Given the description of an element on the screen output the (x, y) to click on. 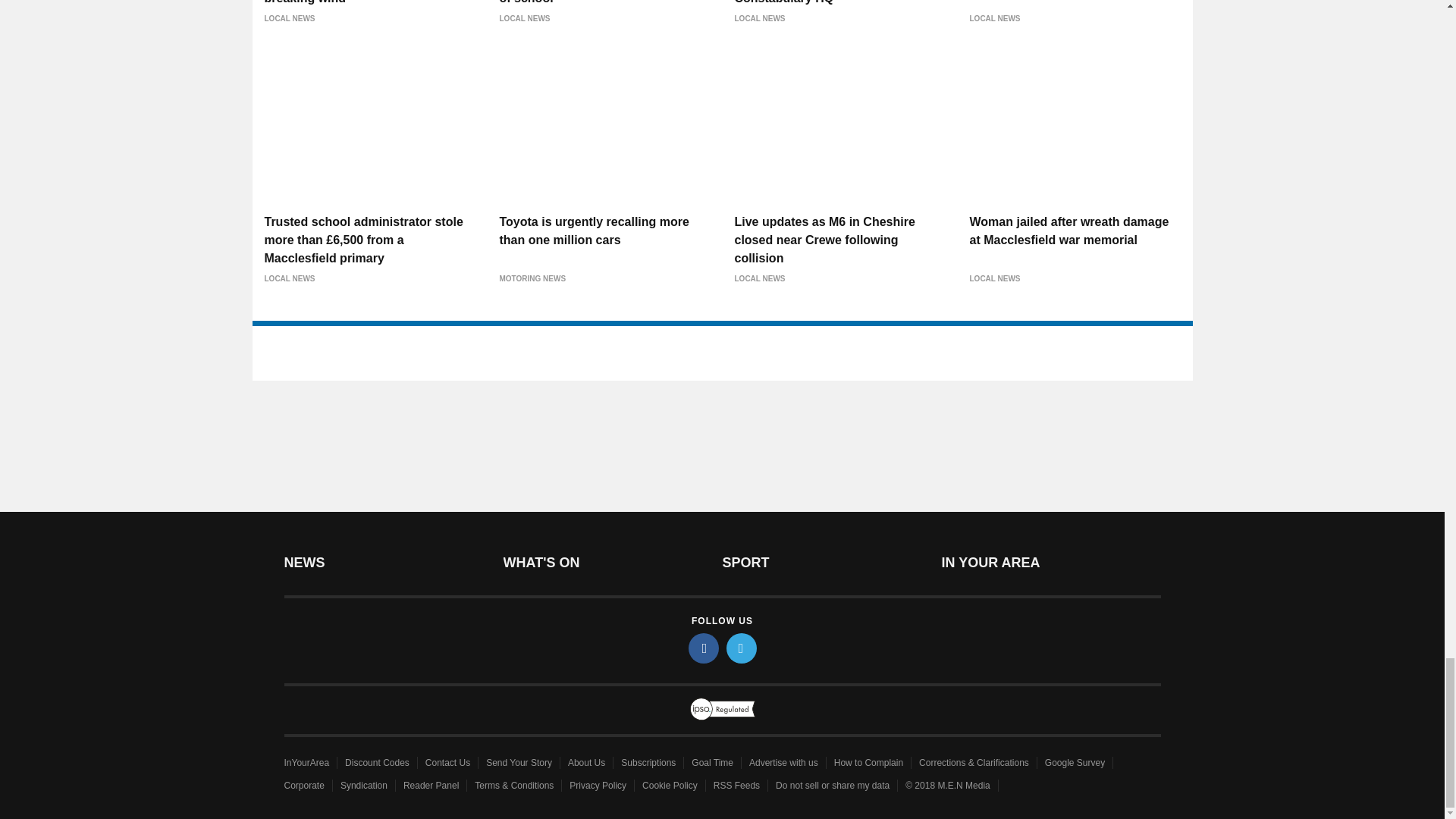
twitter (741, 648)
facebook (703, 648)
